Given the description of an element on the screen output the (x, y) to click on. 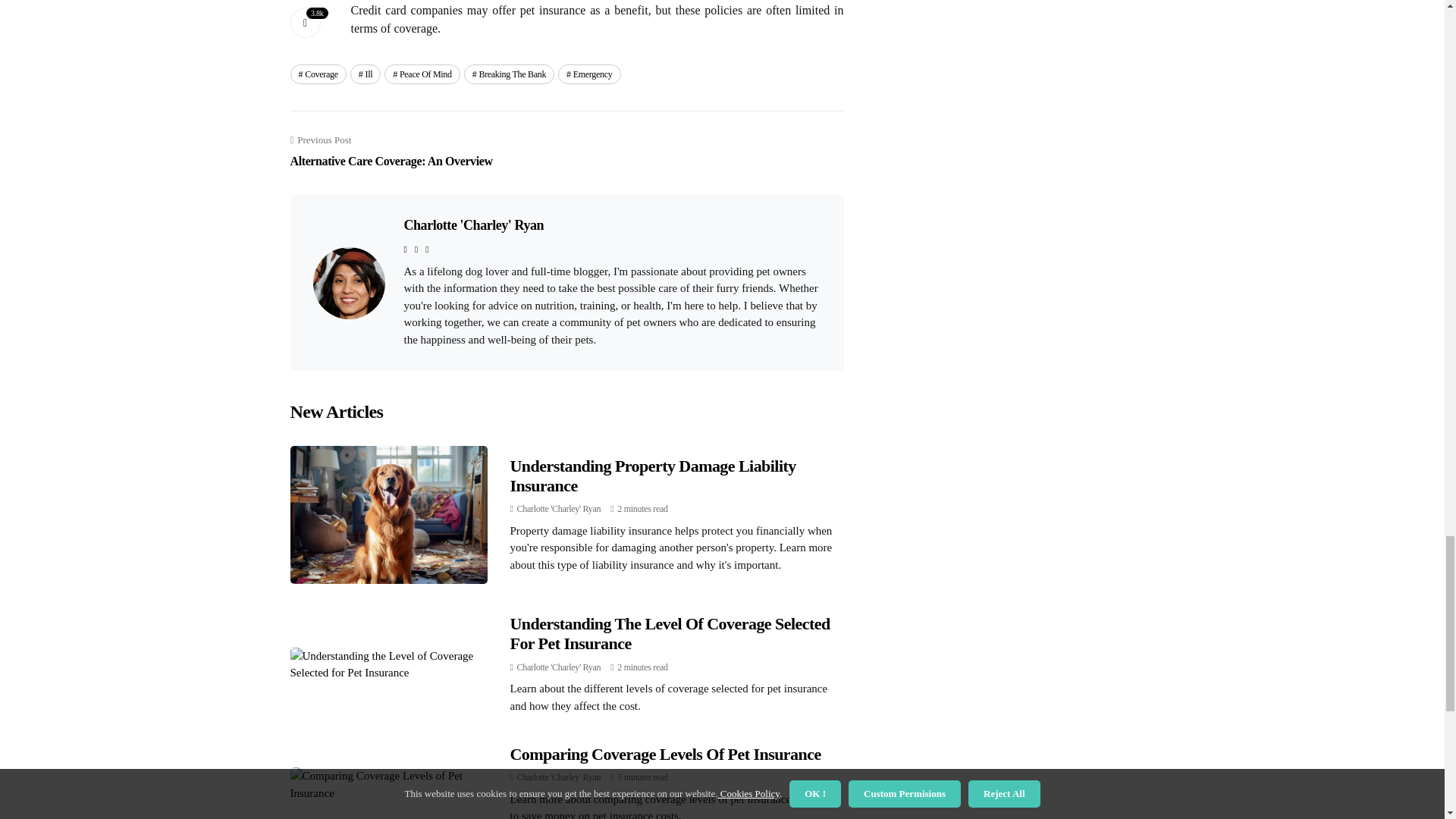
Posts by Charlotte 'Charley' Ryan (558, 508)
Posts by Charlotte 'Charley' Ryan (558, 777)
Posts by Charlotte 'Charley' Ryan (558, 666)
